Given the description of an element on the screen output the (x, y) to click on. 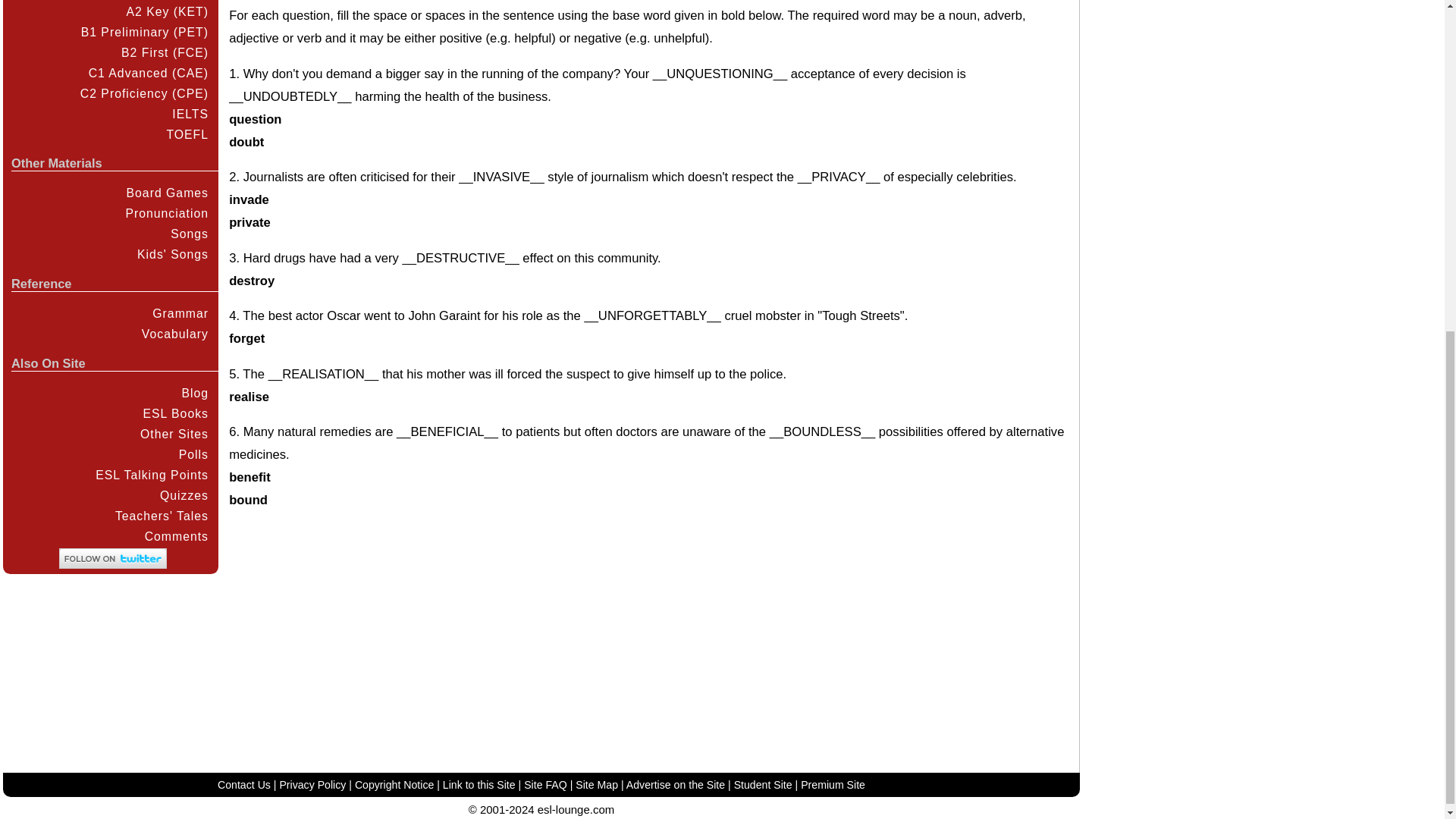
Songs (109, 233)
Kids' Songs (109, 253)
IELTS (109, 113)
TOEFL (109, 134)
Board Games (109, 192)
Pronunciation (109, 212)
